Given the description of an element on the screen output the (x, y) to click on. 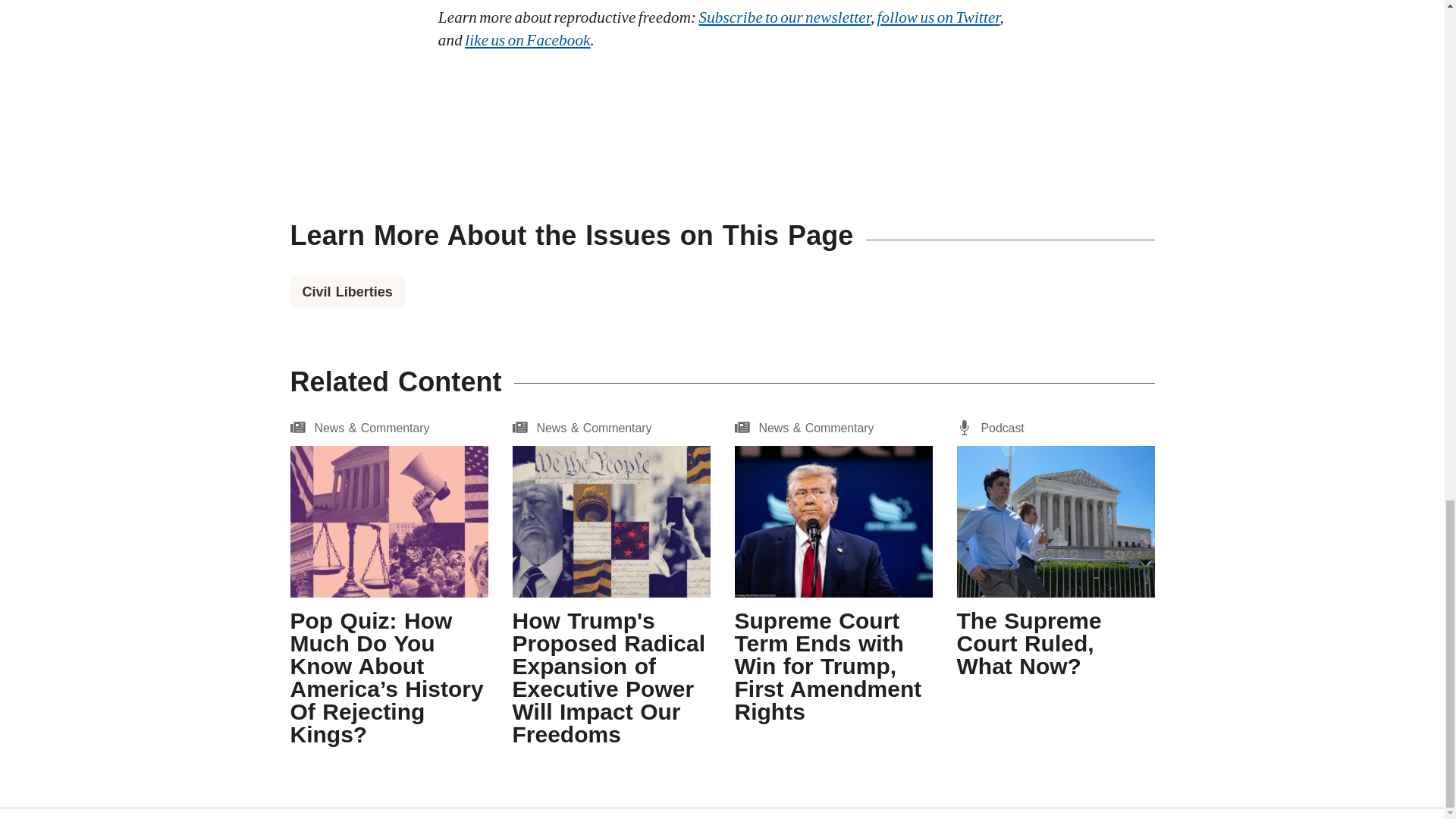
follow us on Twitter (938, 17)
like us on Facebook (526, 40)
Subscribe to our newsletter (783, 17)
Civil Liberties (346, 291)
